Given the description of an element on the screen output the (x, y) to click on. 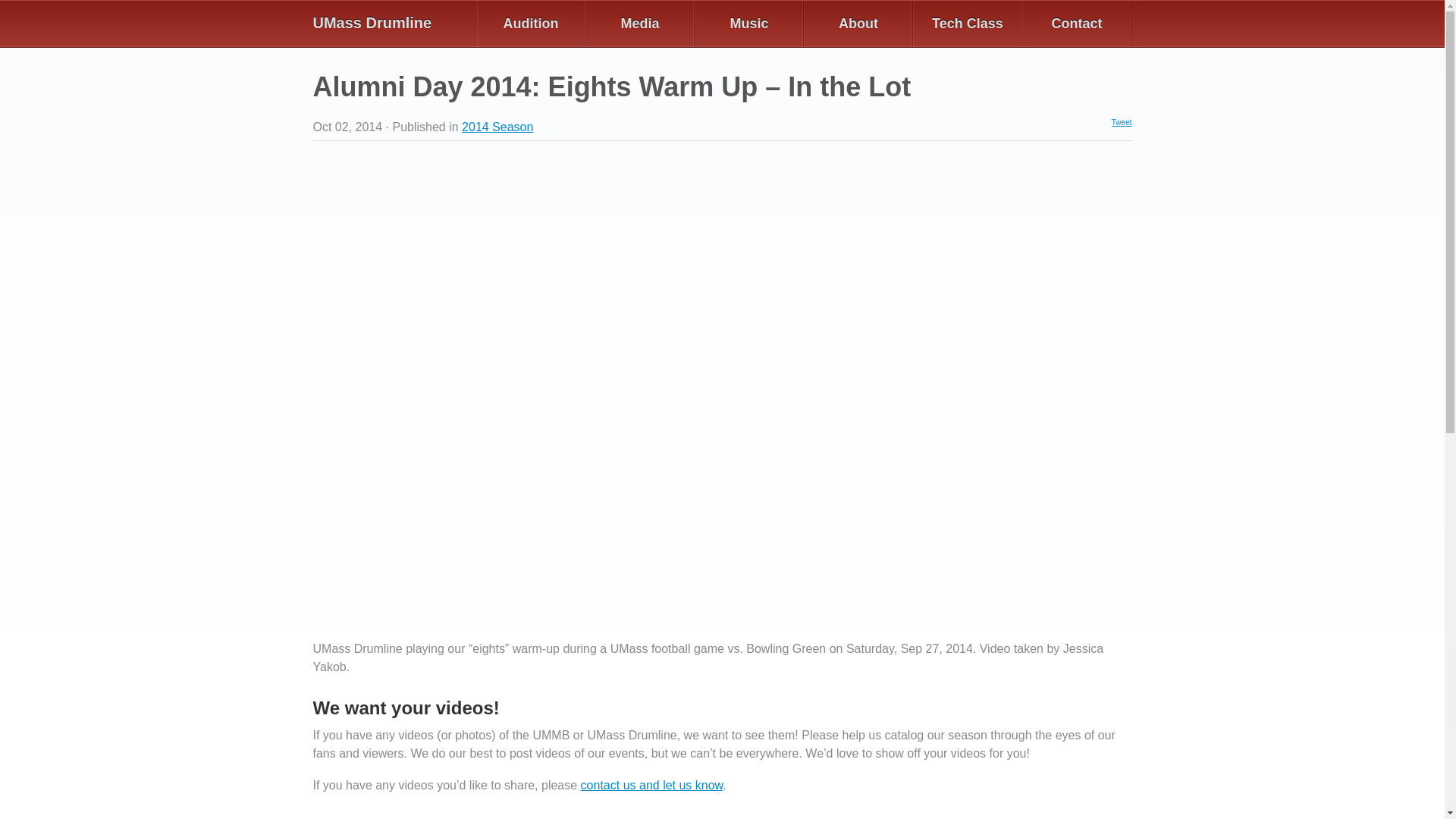
Tweet (1122, 121)
Audition (530, 23)
Contact (1076, 23)
Tech Class (967, 23)
2014 Season (496, 126)
contact us and let us know (651, 784)
Music (748, 23)
About (857, 23)
UMass Drumline (394, 22)
Media (639, 23)
